Given the description of an element on the screen output the (x, y) to click on. 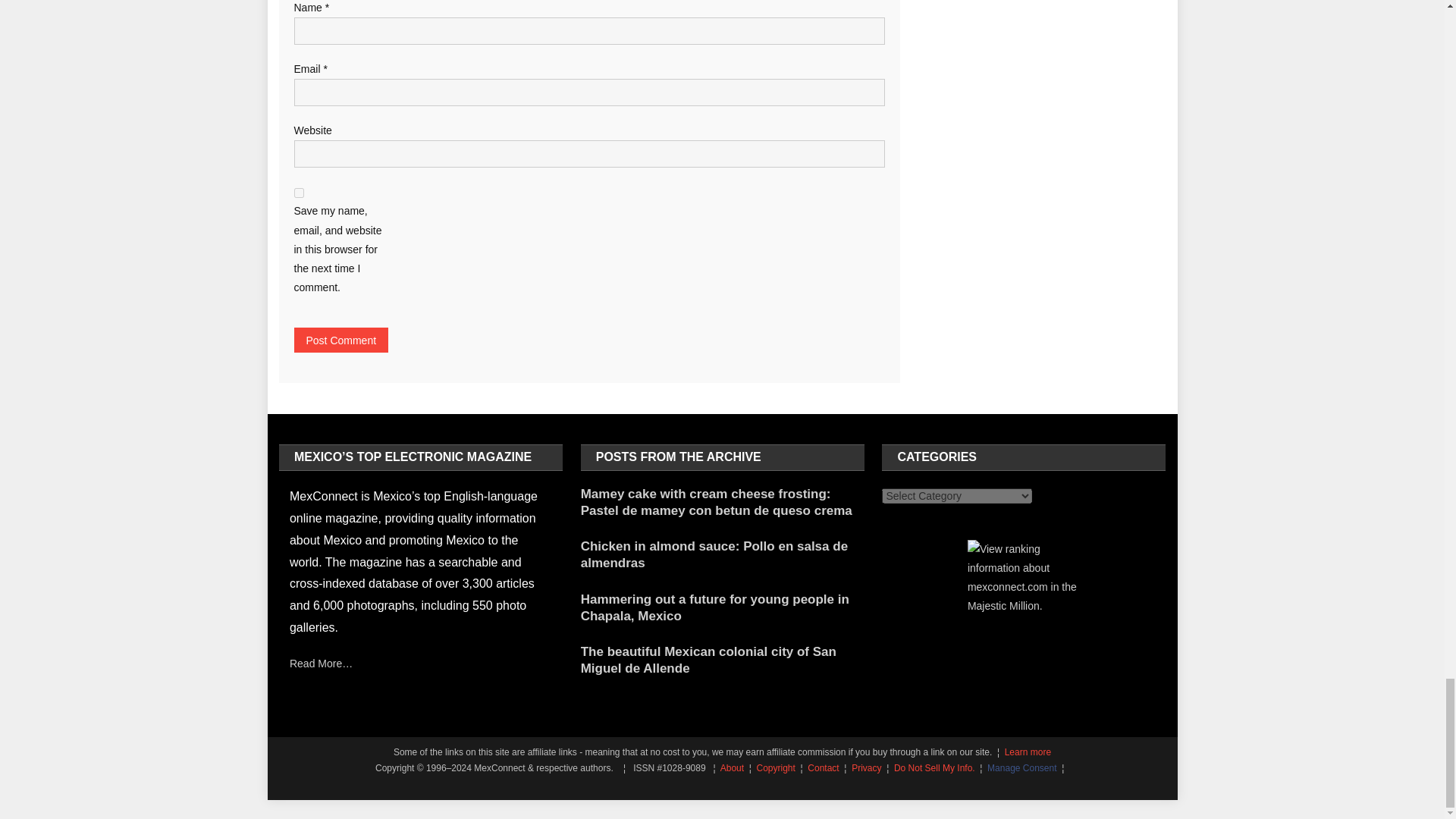
yes (299, 193)
Post Comment (341, 339)
